Given the description of an element on the screen output the (x, y) to click on. 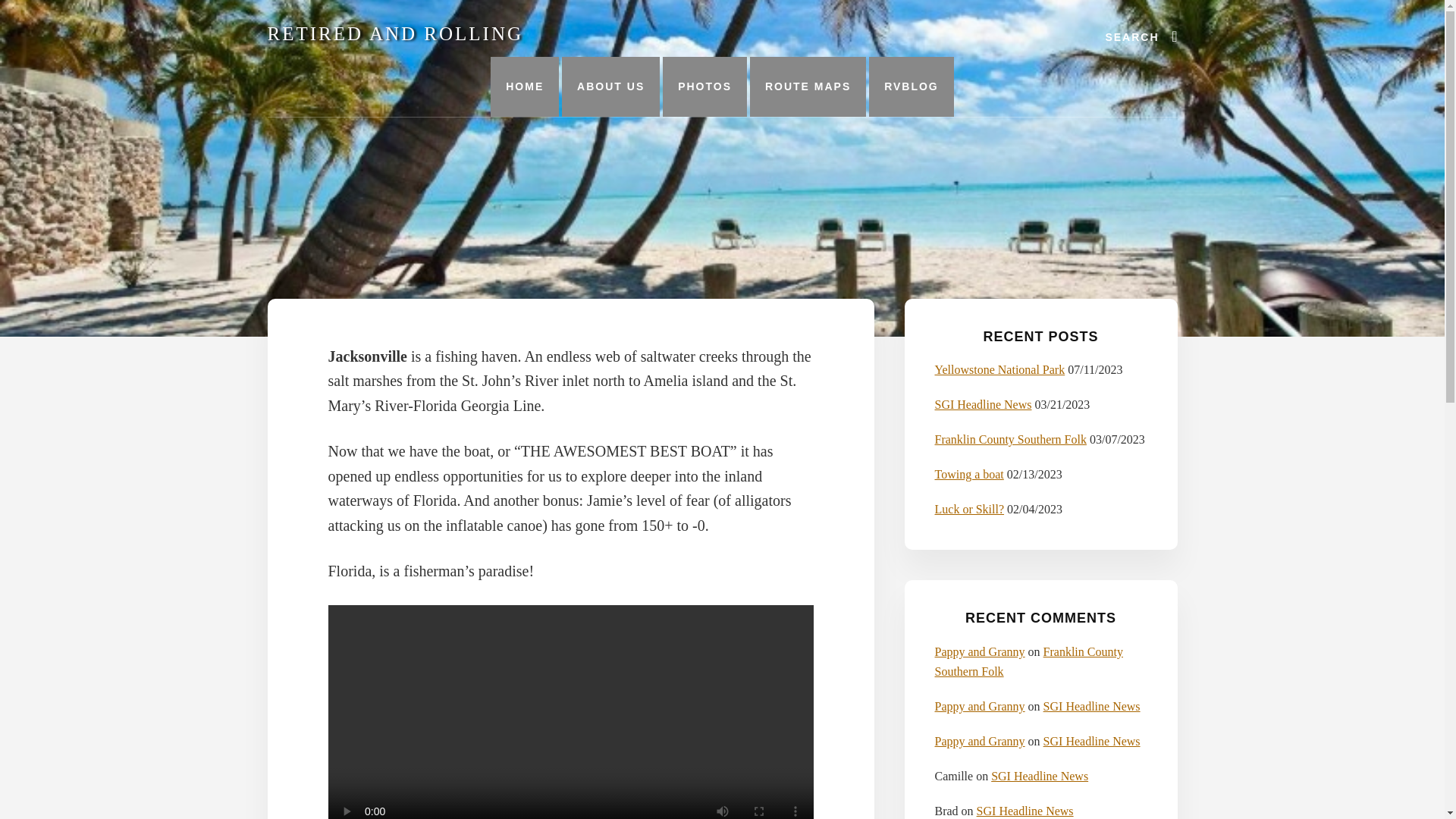
HOME (524, 86)
ABOUT US (610, 86)
PHOTOS (704, 86)
RETIRED AND ROLLING (394, 33)
